Given the description of an element on the screen output the (x, y) to click on. 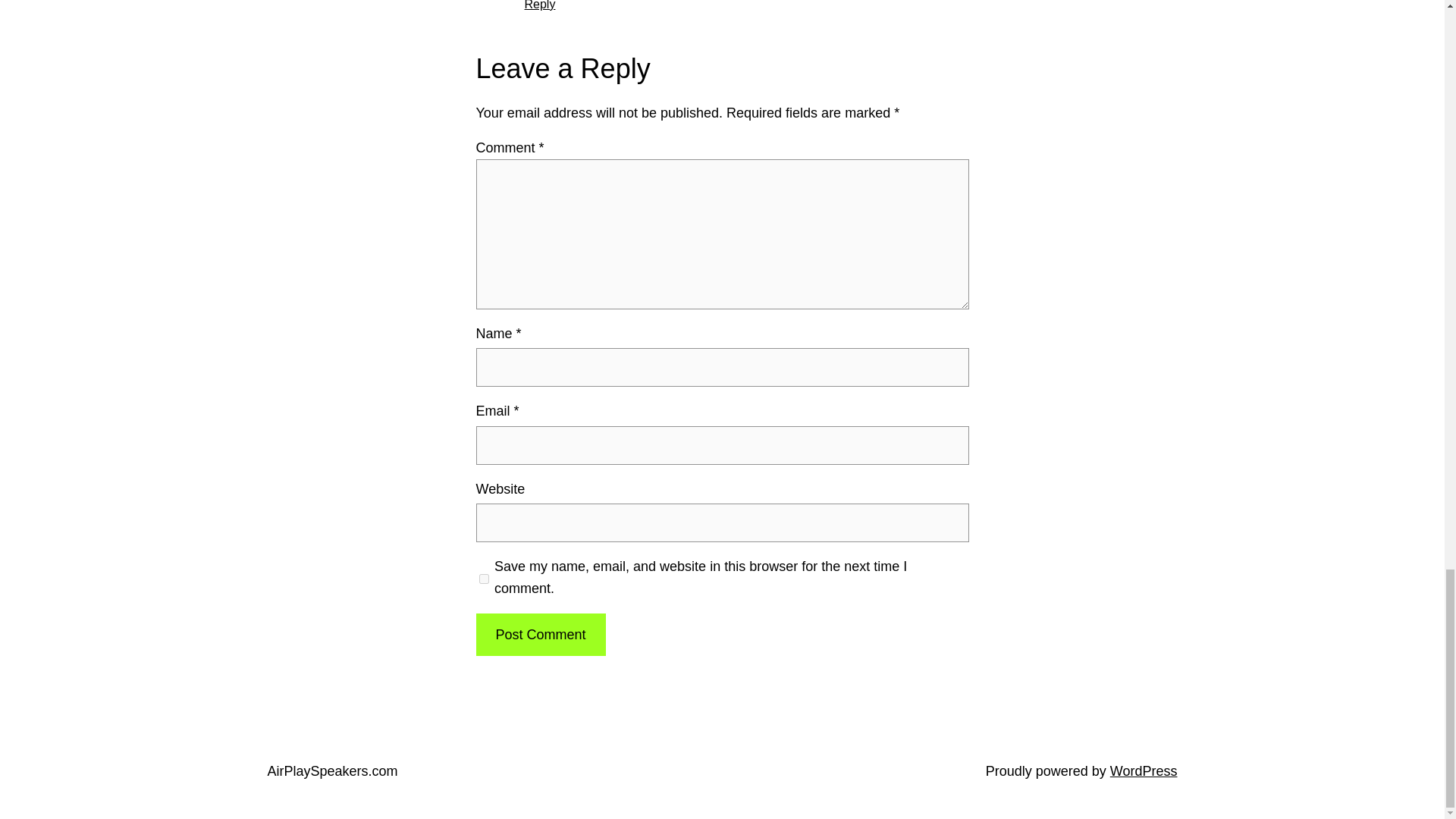
yes (484, 578)
Post Comment (540, 634)
